Given the description of an element on the screen output the (x, y) to click on. 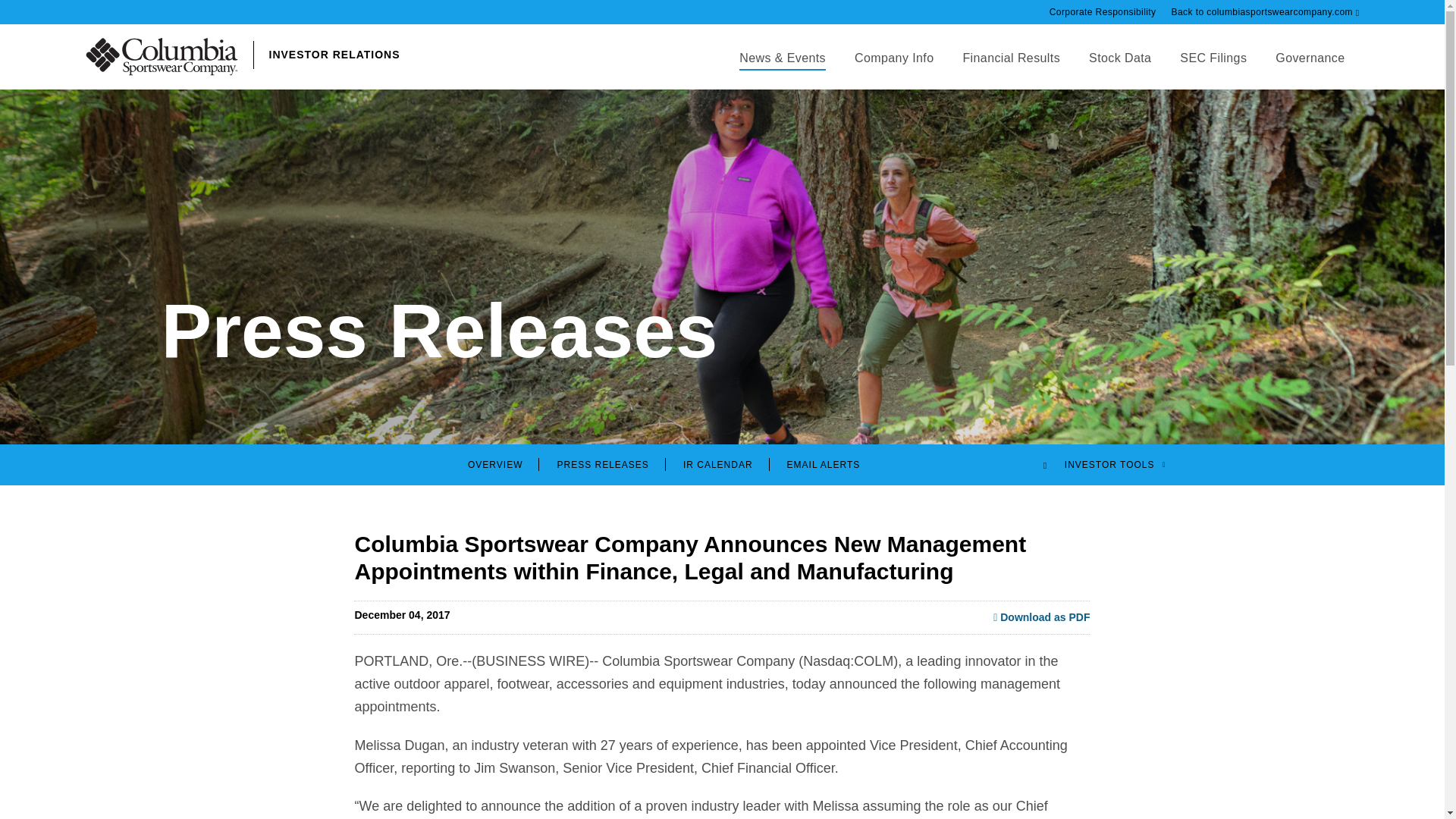
Financial Results (1010, 69)
Investors (737, 69)
Back to columbiasportswearcompany.com (1265, 11)
Company Info (893, 69)
Governance (1309, 69)
Corporate Responsibility (1110, 11)
Stock Data (1120, 69)
SEC Filings (1213, 69)
